Given the description of an element on the screen output the (x, y) to click on. 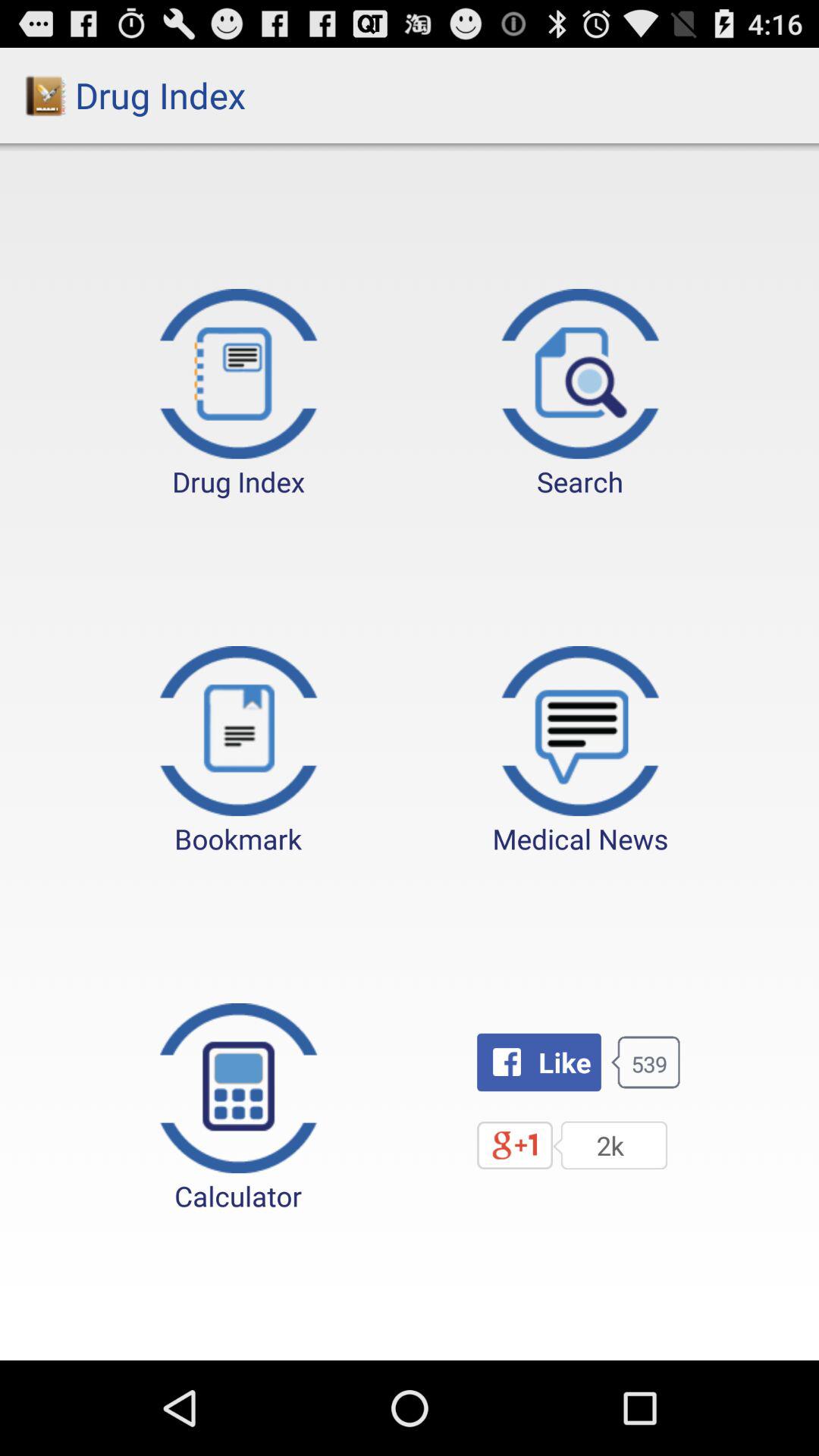
turn on the button to the left of the medical news button (238, 751)
